Given the description of an element on the screen output the (x, y) to click on. 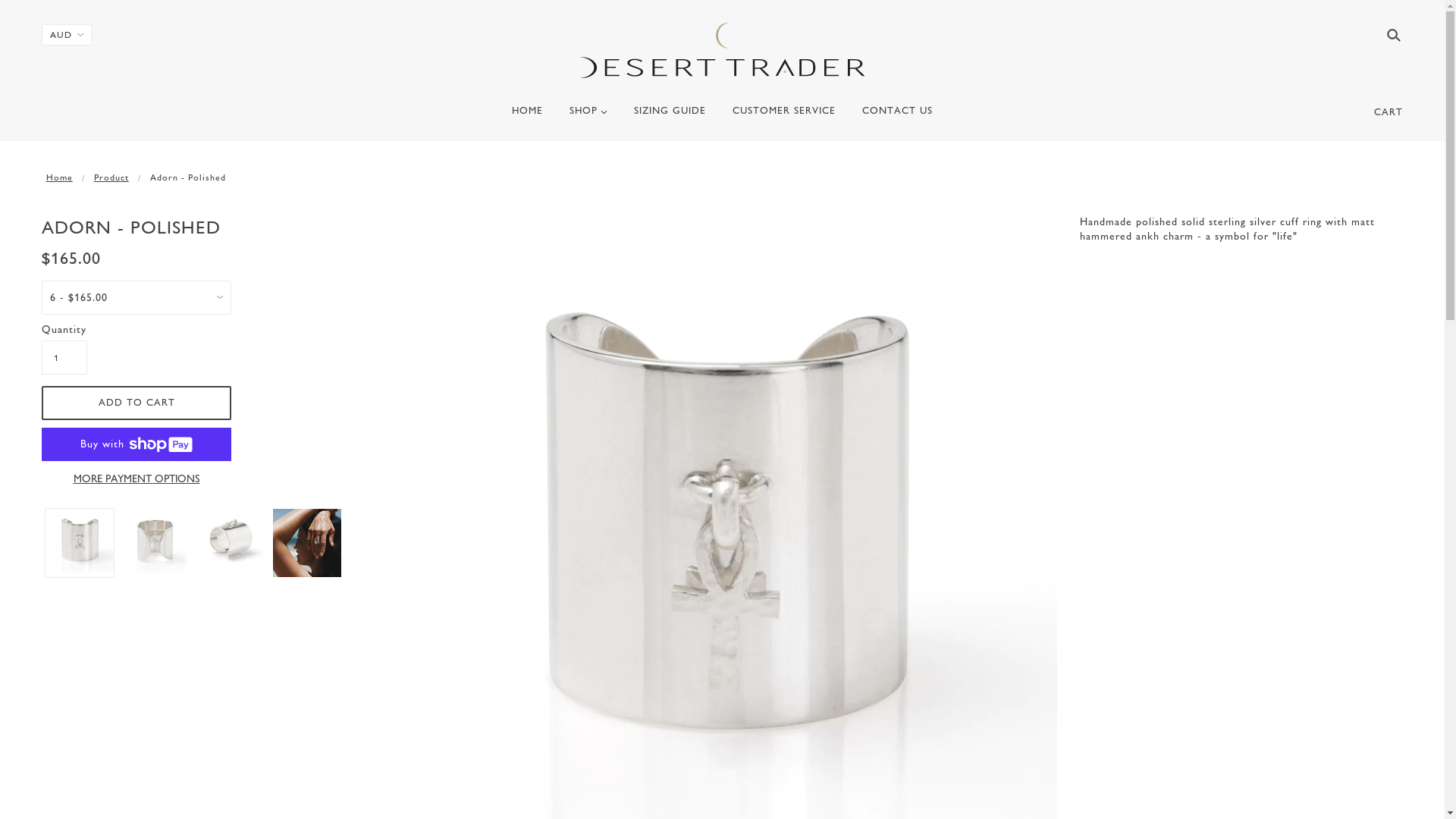
Add to Cart Element type: text (136, 402)
Home Element type: text (59, 177)
CUSTOMER SERVICE Element type: text (784, 117)
CART Element type: text (1388, 112)
SHOP Element type: text (588, 117)
HOME Element type: text (527, 117)
Product Element type: text (111, 177)
MORE PAYMENT OPTIONS Element type: text (136, 478)
CONTACT US Element type: text (897, 117)
Desert Trader Jewellery  Element type: hover (722, 50)
SIZING GUIDE Element type: text (669, 117)
